Given the description of an element on the screen output the (x, y) to click on. 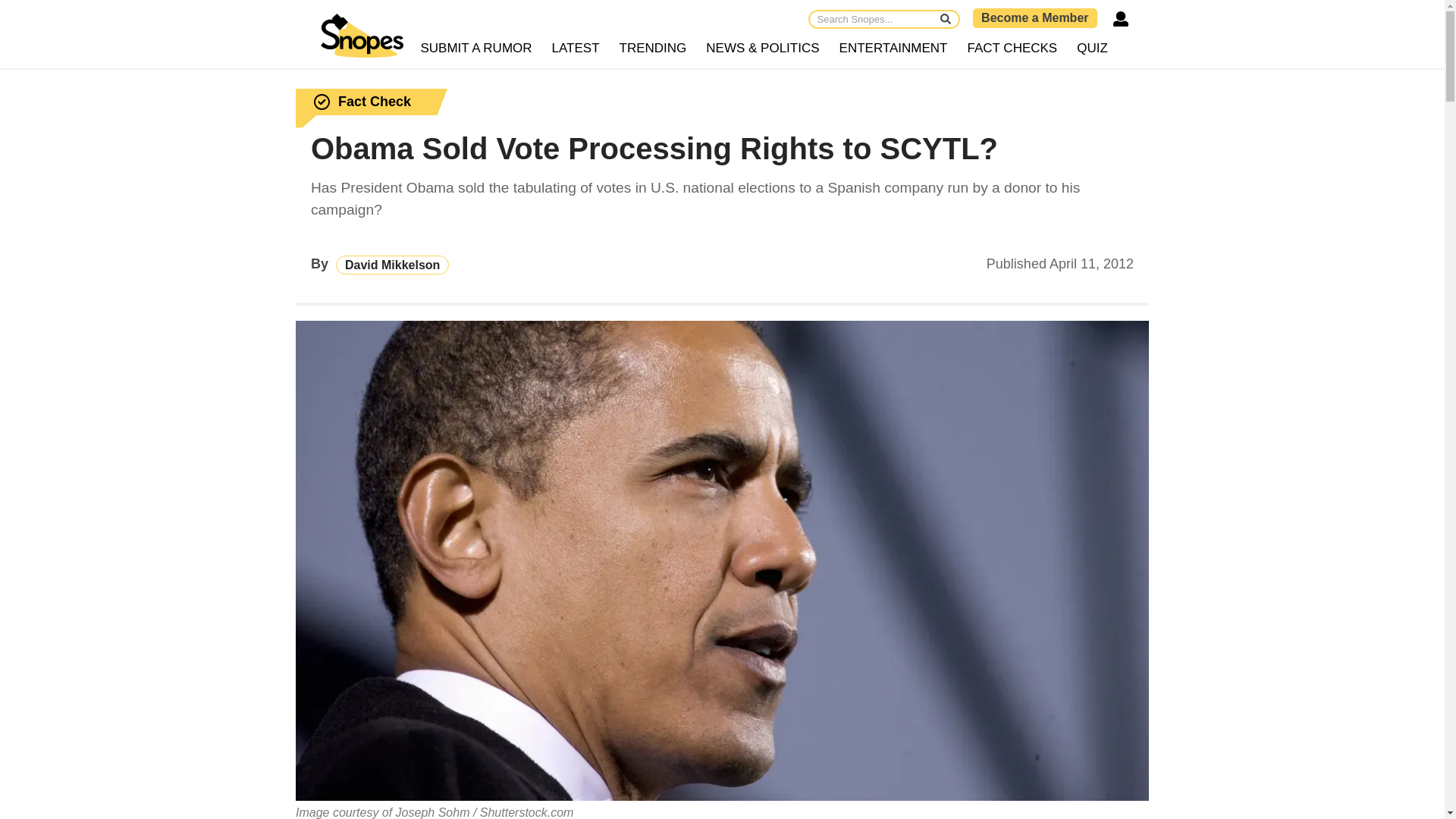
TRENDING (653, 47)
David Mikkelson (392, 264)
LATEST (576, 47)
QUIZ (1092, 47)
Become a Member (1034, 17)
SUBMIT A RUMOR (475, 47)
ENTERTAINMENT (893, 47)
FACT CHECKS (1011, 47)
